Given the description of an element on the screen output the (x, y) to click on. 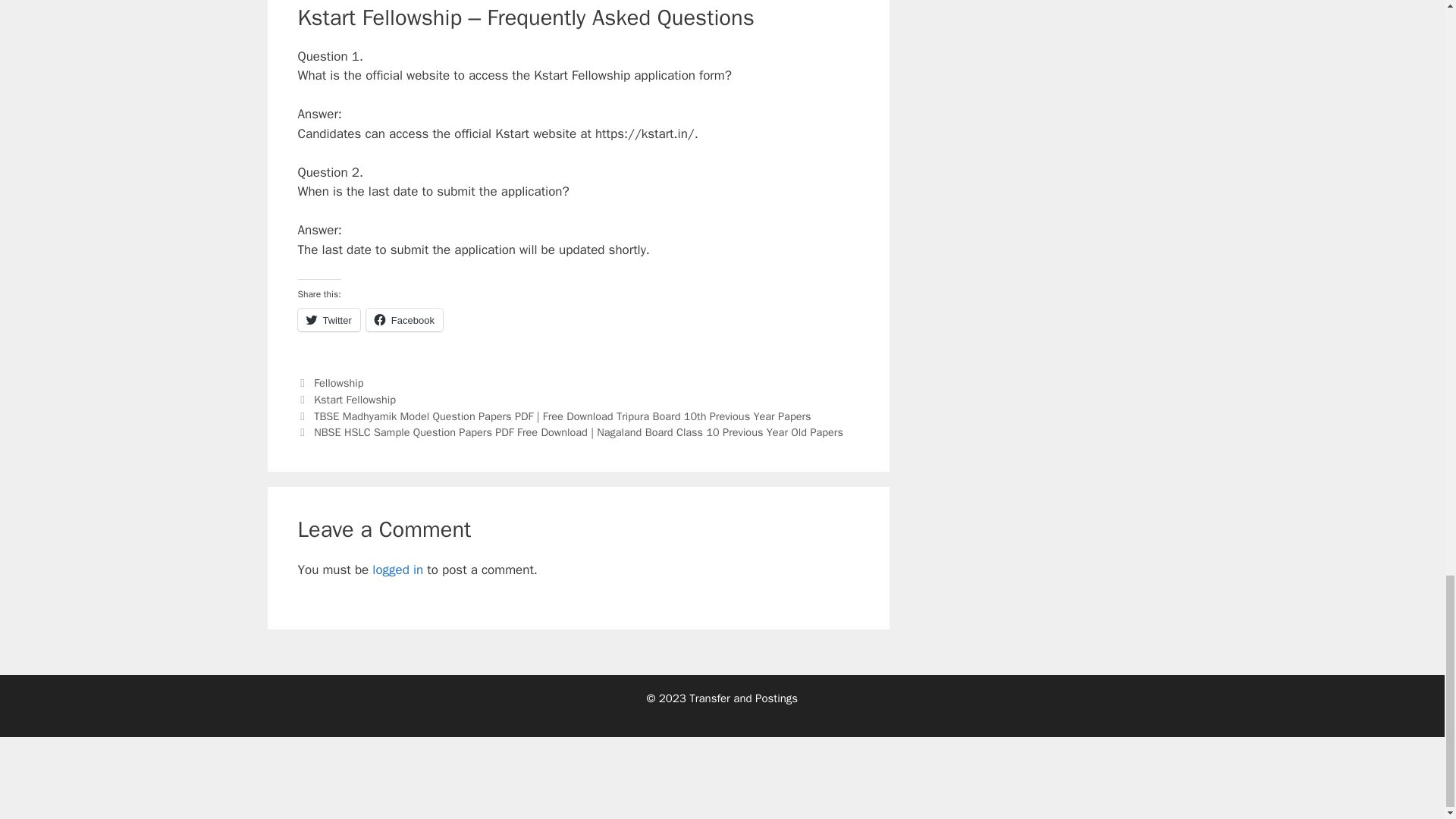
Fellowship (338, 382)
Click to share on Twitter (328, 319)
Click to share on Facebook (404, 319)
Kstart Fellowship (355, 399)
Facebook (404, 319)
logged in (397, 569)
Twitter (328, 319)
